Given the description of an element on the screen output the (x, y) to click on. 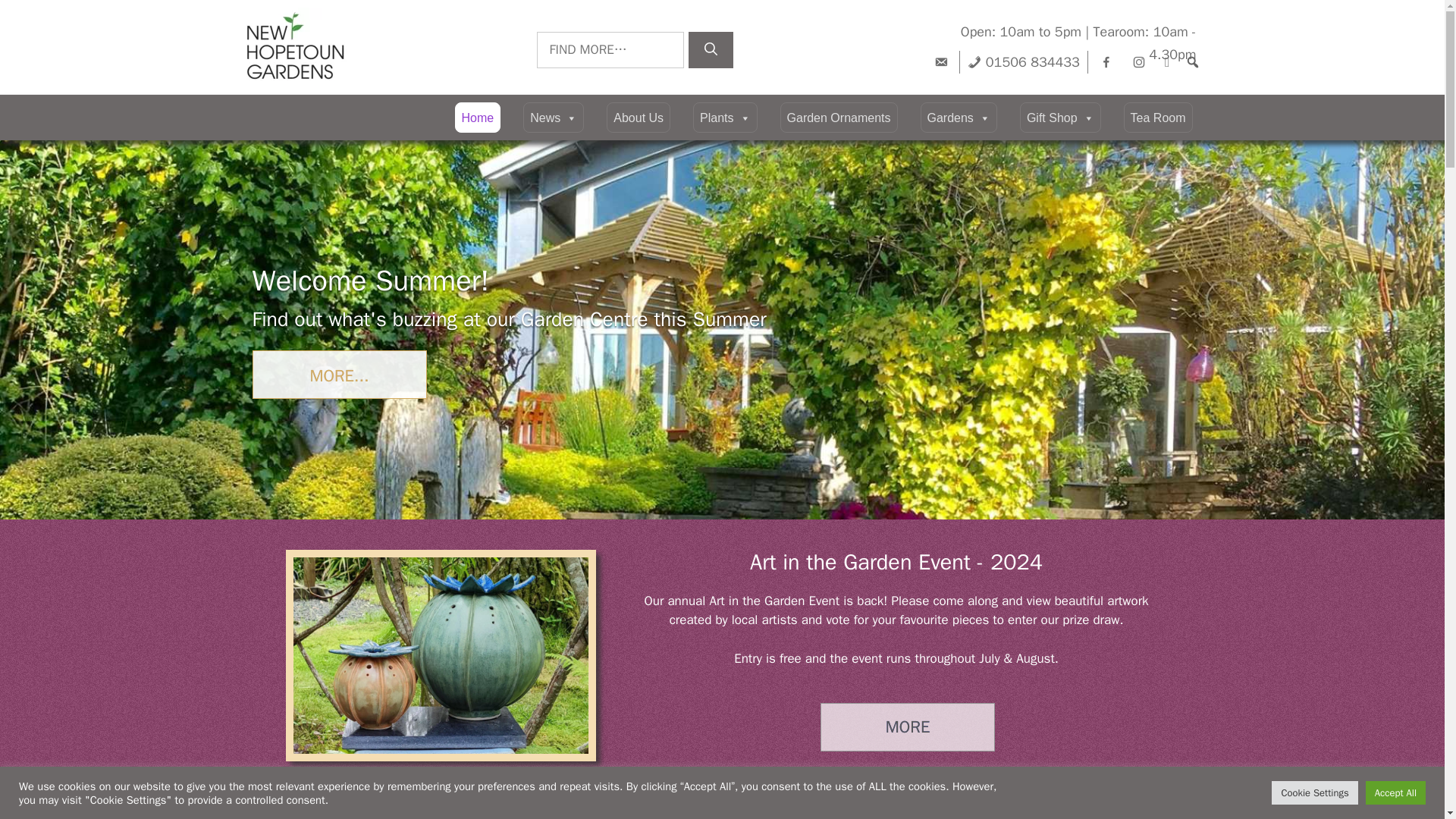
01506 834433 (1023, 61)
About Us (638, 117)
Follow us on Facebook (1106, 61)
Find us on Youtube (1167, 61)
Get in touch! (338, 374)
News (552, 117)
Call Us (1023, 61)
Search for: (610, 49)
EMAIL US (940, 61)
Follow us on Instagram (1138, 61)
Home (477, 117)
Plants (725, 117)
